Given the description of an element on the screen output the (x, y) to click on. 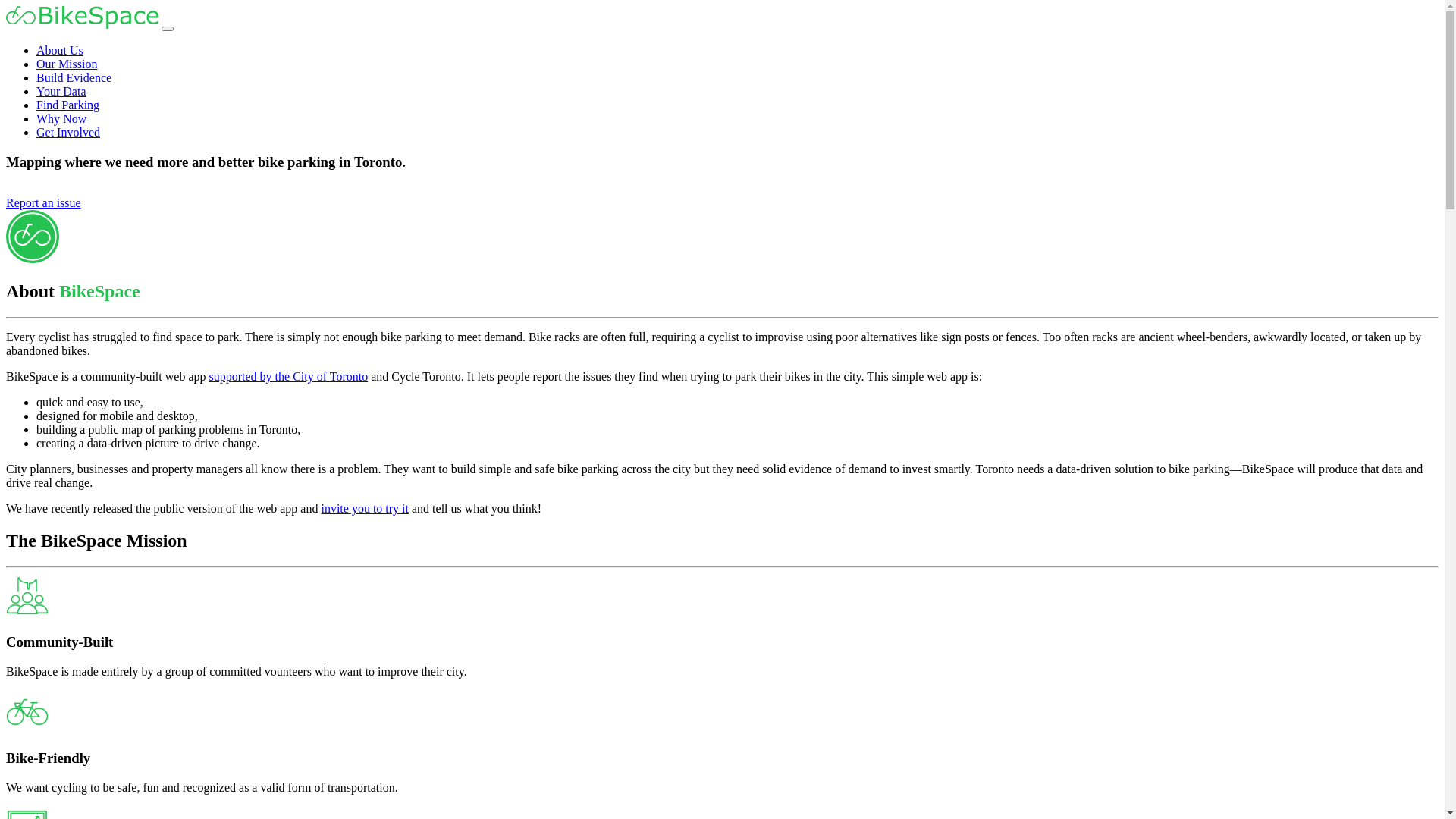
Our Mission Element type: text (66, 63)
Find Parking Element type: text (67, 104)
About Us Element type: text (59, 49)
Get Involved Element type: text (68, 131)
Report an issue Element type: text (43, 202)
supported by the City of Toronto Element type: text (288, 376)
Why Now Element type: text (61, 118)
Build Evidence Element type: text (73, 77)
Your Data Element type: text (60, 90)
invite you to try it Element type: text (364, 508)
